Given the description of an element on the screen output the (x, y) to click on. 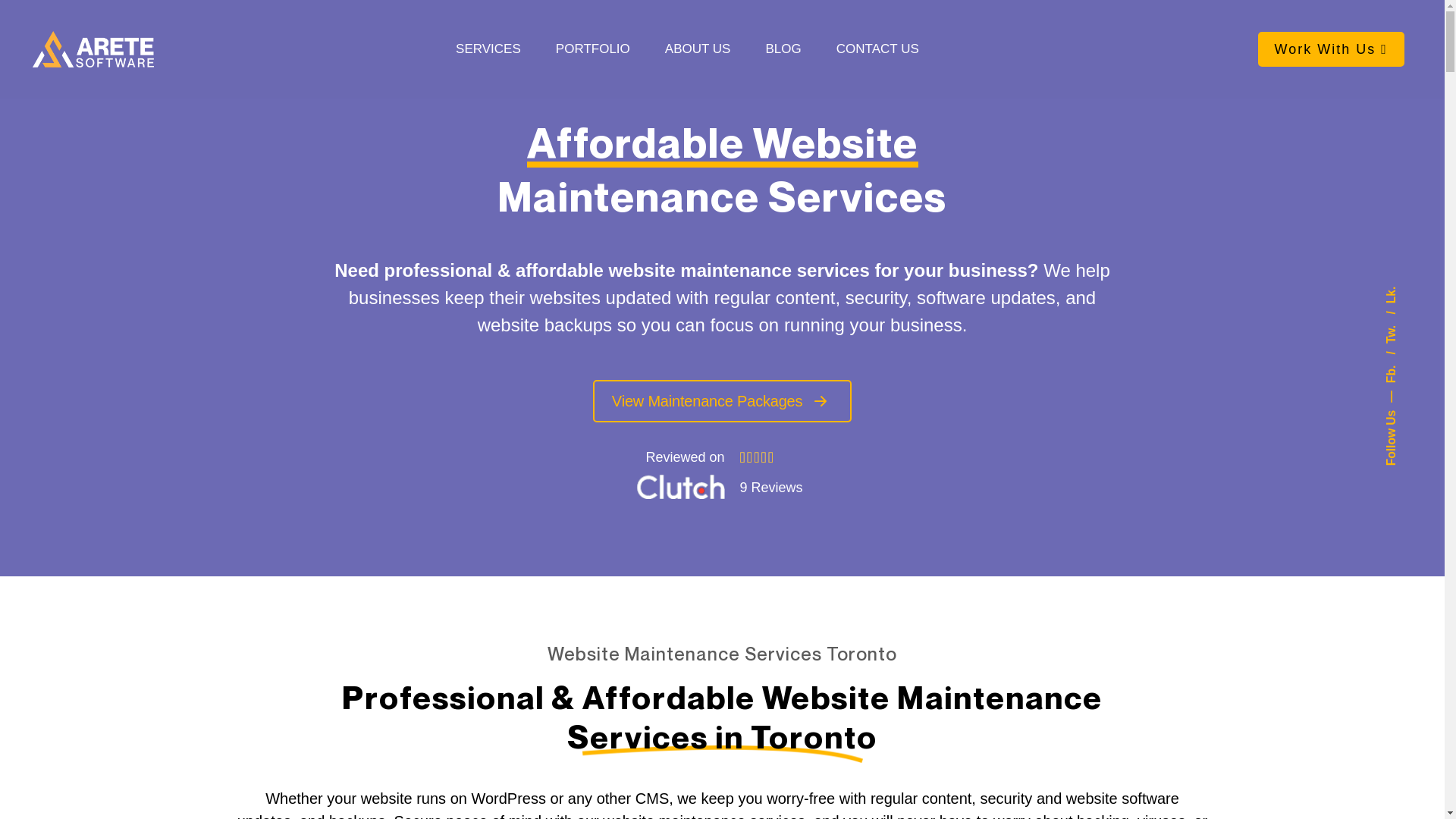
PORTFOLIO Element type: text (592, 48)
Lk. Element type: text (1392, 292)
Tw. Element type: text (1399, 316)
Fb. Element type: text (1399, 357)
View Maintenance Packages Element type: text (721, 400)
ABOUT US Element type: text (697, 48)
CONTACT US Element type: text (877, 48)
BLOG Element type: text (782, 48)
SERVICES Element type: text (488, 48)
